Given the description of an element on the screen output the (x, y) to click on. 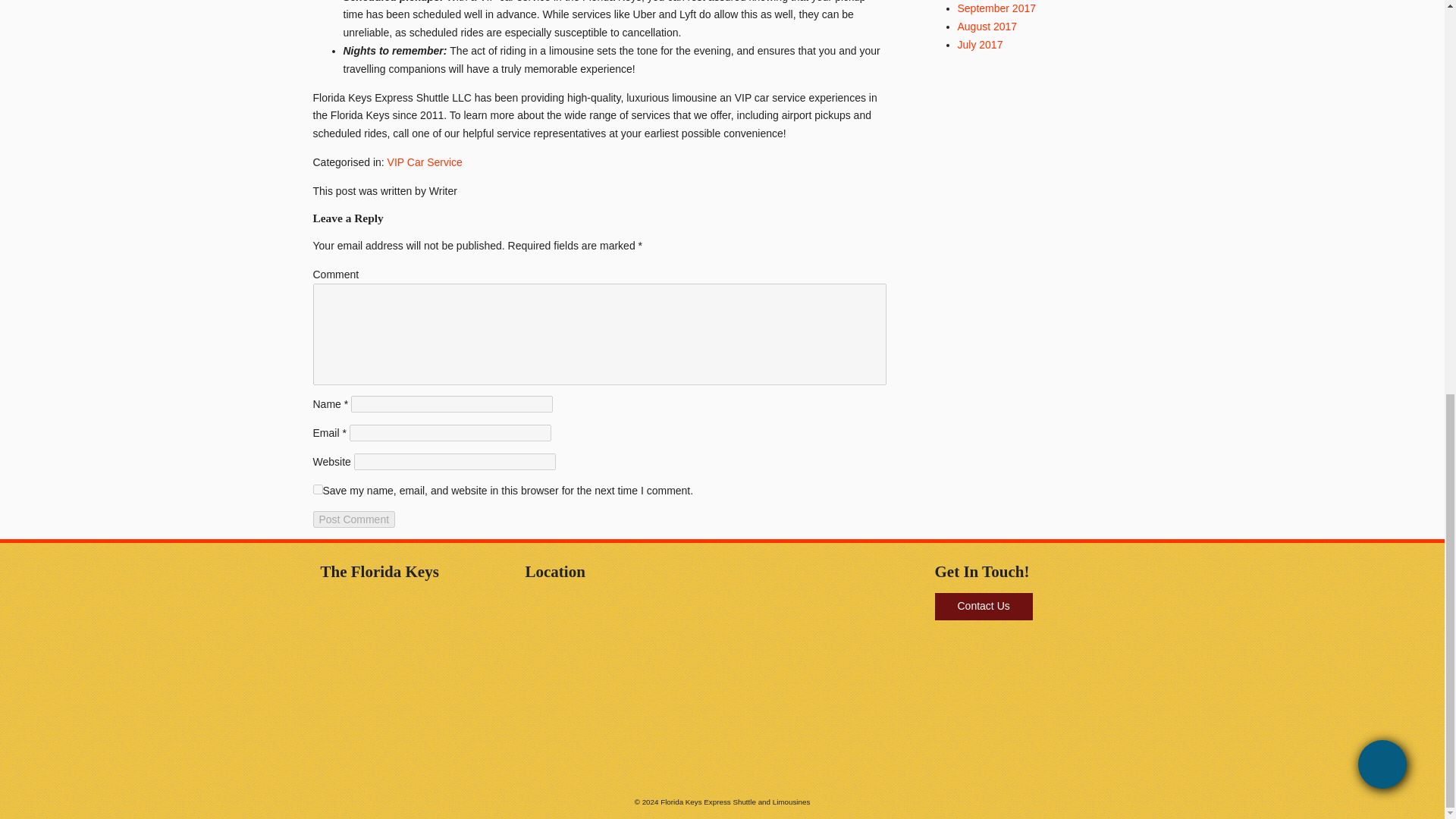
VIP Car Service (425, 162)
September 2017 (995, 8)
Post Comment (353, 519)
Click to open a larger map (414, 687)
Click to open a larger map (414, 772)
yes (317, 489)
Post Comment (353, 519)
